Given the description of an element on the screen output the (x, y) to click on. 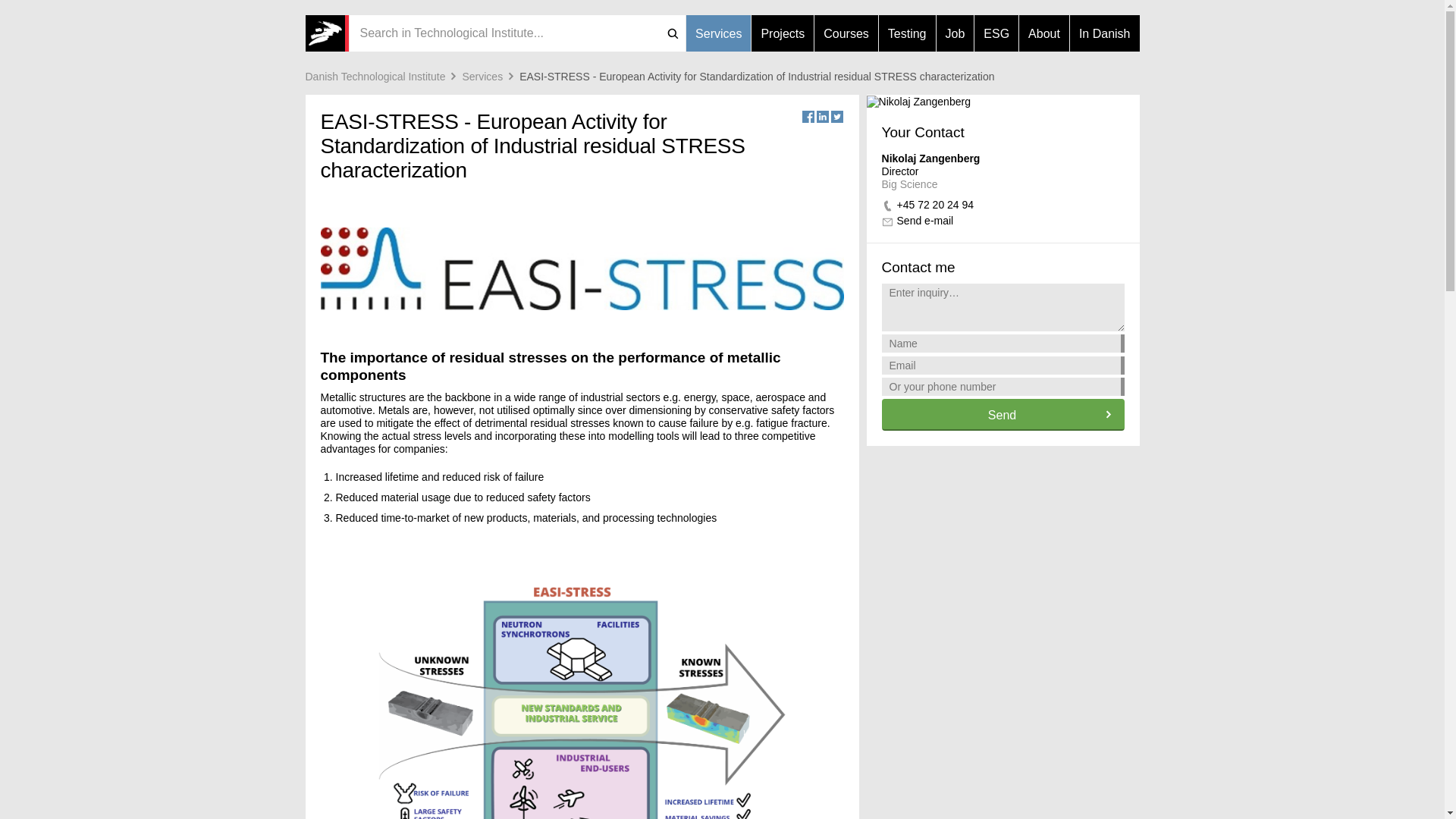
ESG (995, 33)
Services (718, 33)
Send e-mail (924, 220)
About (1043, 33)
Services (490, 76)
Job (955, 33)
In Danish (1105, 33)
Send (1003, 414)
Danish Technological Institute (382, 76)
Courses (845, 33)
Projects (782, 33)
Testing (907, 33)
